Given the description of an element on the screen output the (x, y) to click on. 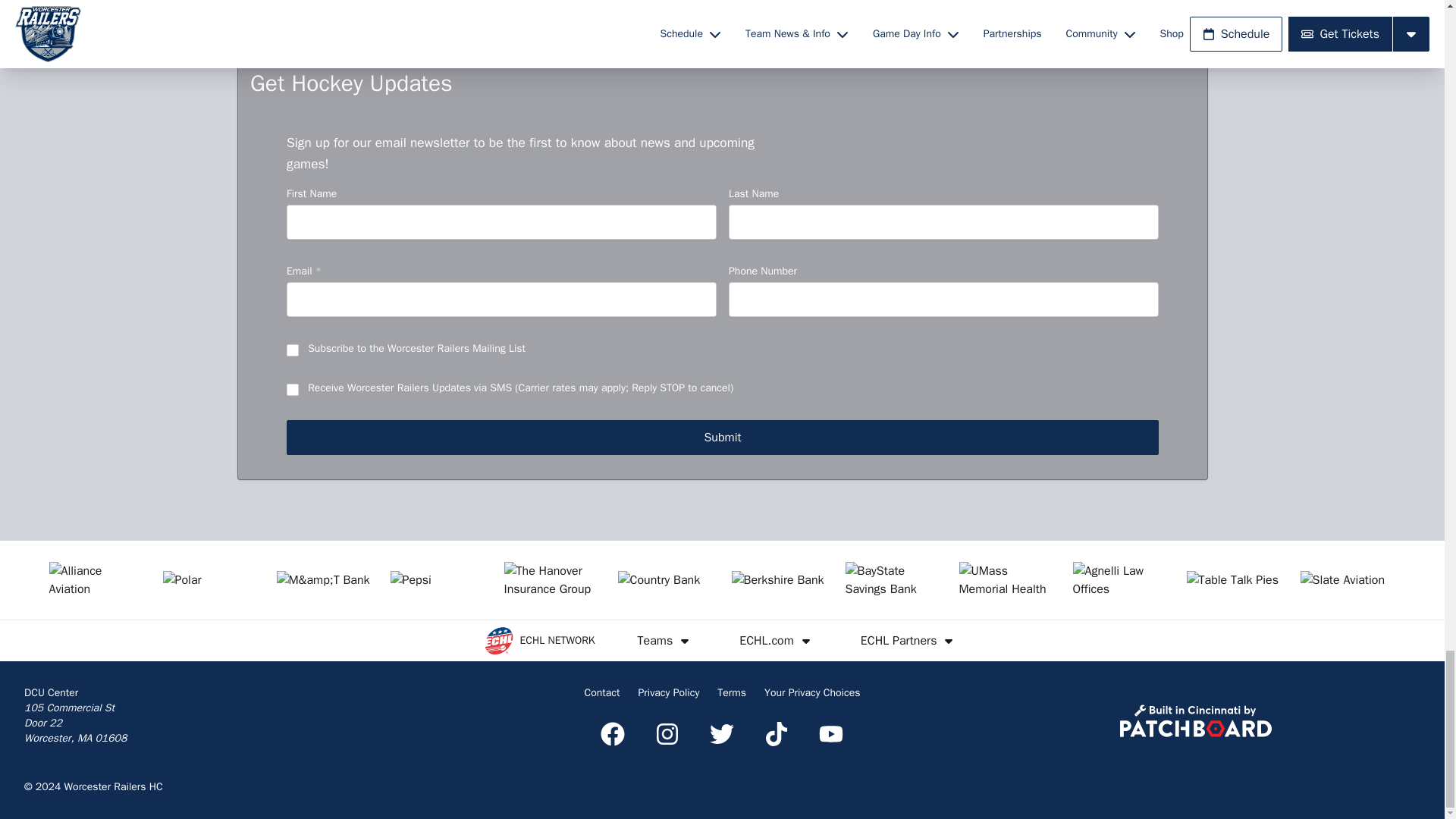
on (292, 349)
Twitter (721, 733)
Instagram (667, 733)
Facebook (612, 733)
TikTok (776, 733)
YouTube (830, 733)
Built in Cincinnati by Patchboard (1195, 720)
on (292, 389)
